Given the description of an element on the screen output the (x, y) to click on. 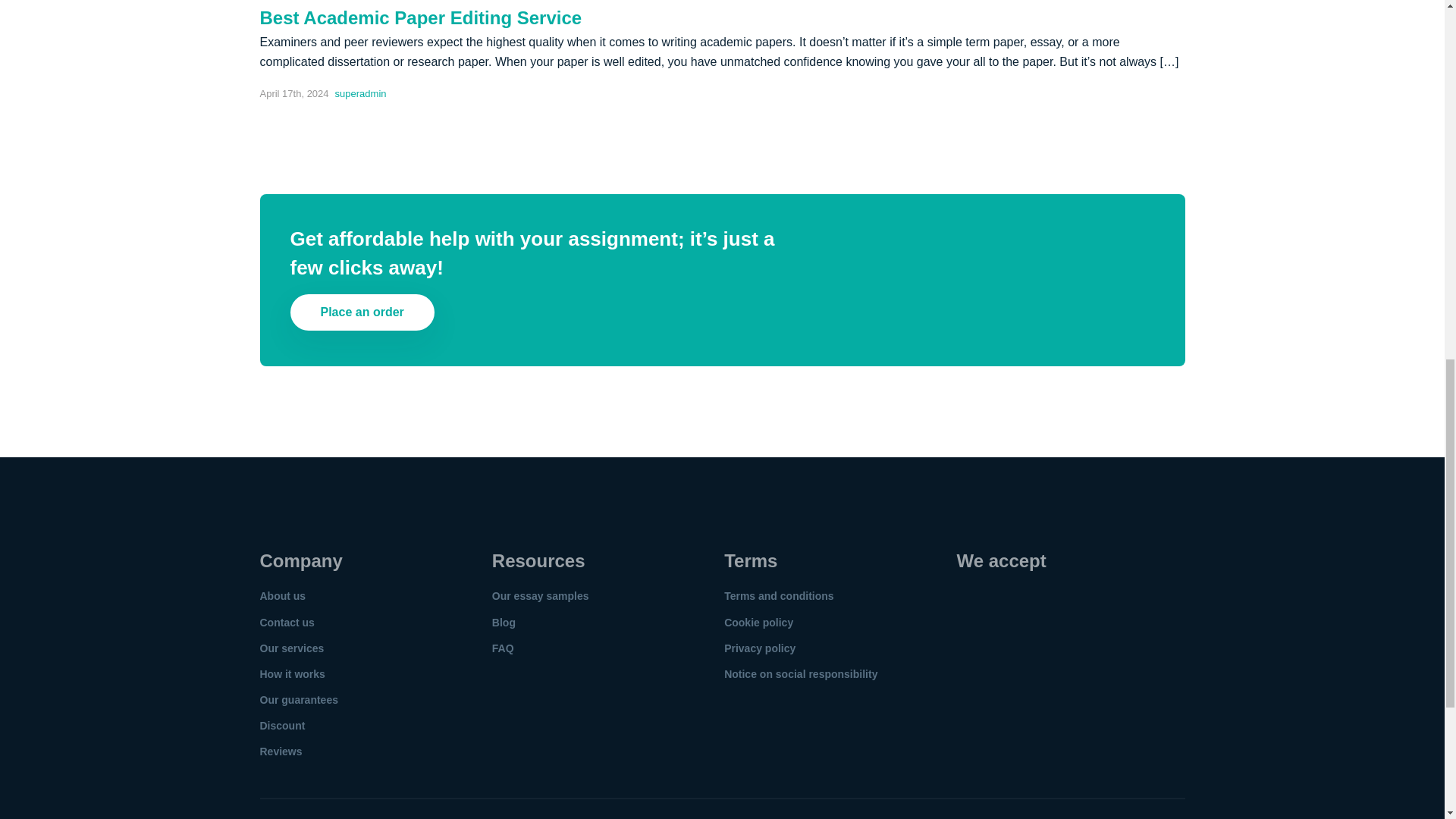
Best Academic Paper Editing Service (419, 17)
About us (282, 595)
How it works (291, 674)
Our services (291, 648)
Place an order (361, 312)
Posts by superadmin (360, 1)
Posts by superadmin (360, 94)
Contact us (286, 621)
superadmin (360, 1)
superadmin (360, 94)
